Given the description of an element on the screen output the (x, y) to click on. 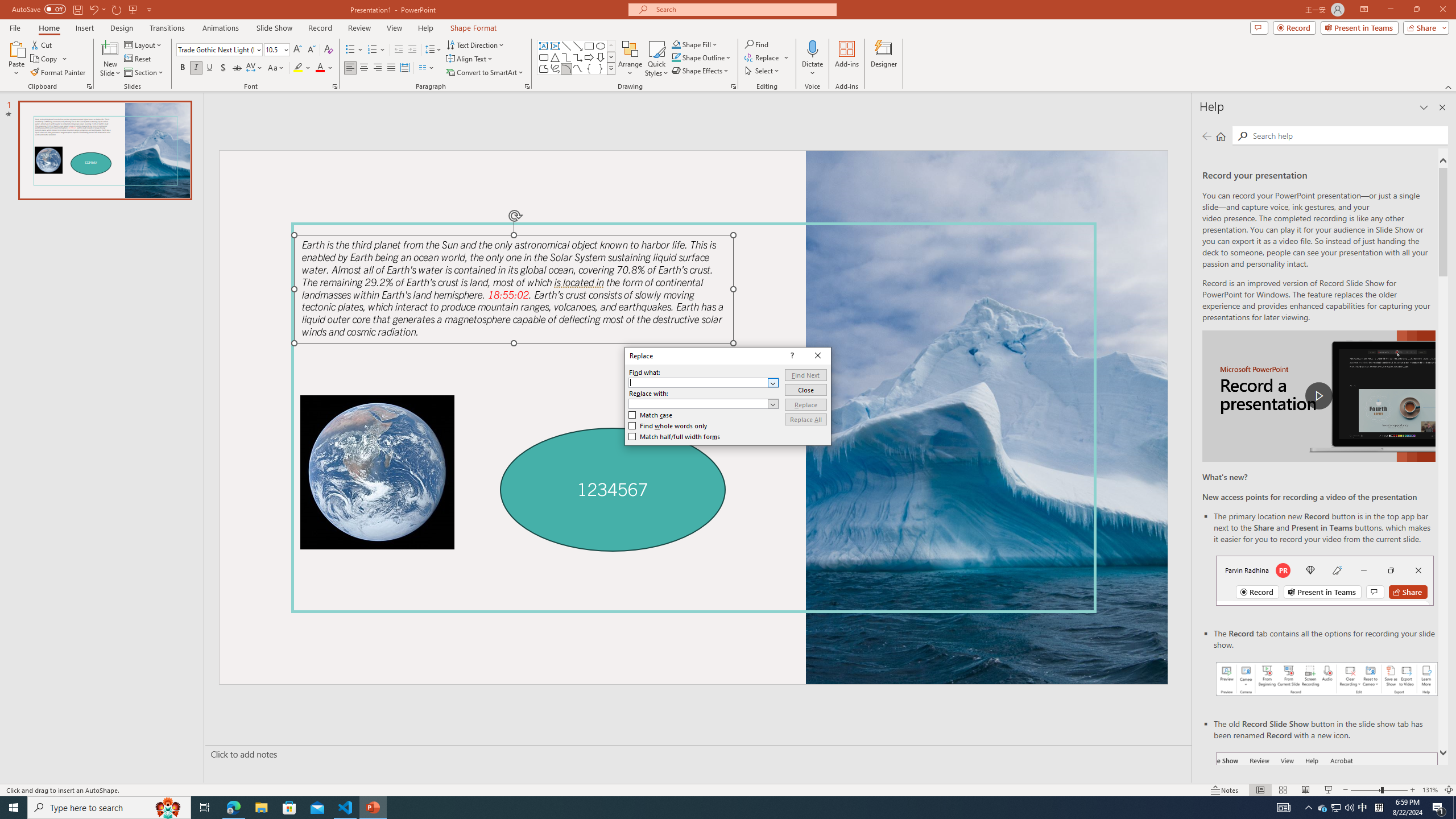
Quick Styles (656, 58)
Layout (143, 44)
Underline (209, 67)
Align Text (470, 58)
Find what (703, 382)
Q2790: 100% (1349, 807)
Cut (42, 44)
Microsoft Store (289, 807)
Decrease Indent (398, 49)
